Given the description of an element on the screen output the (x, y) to click on. 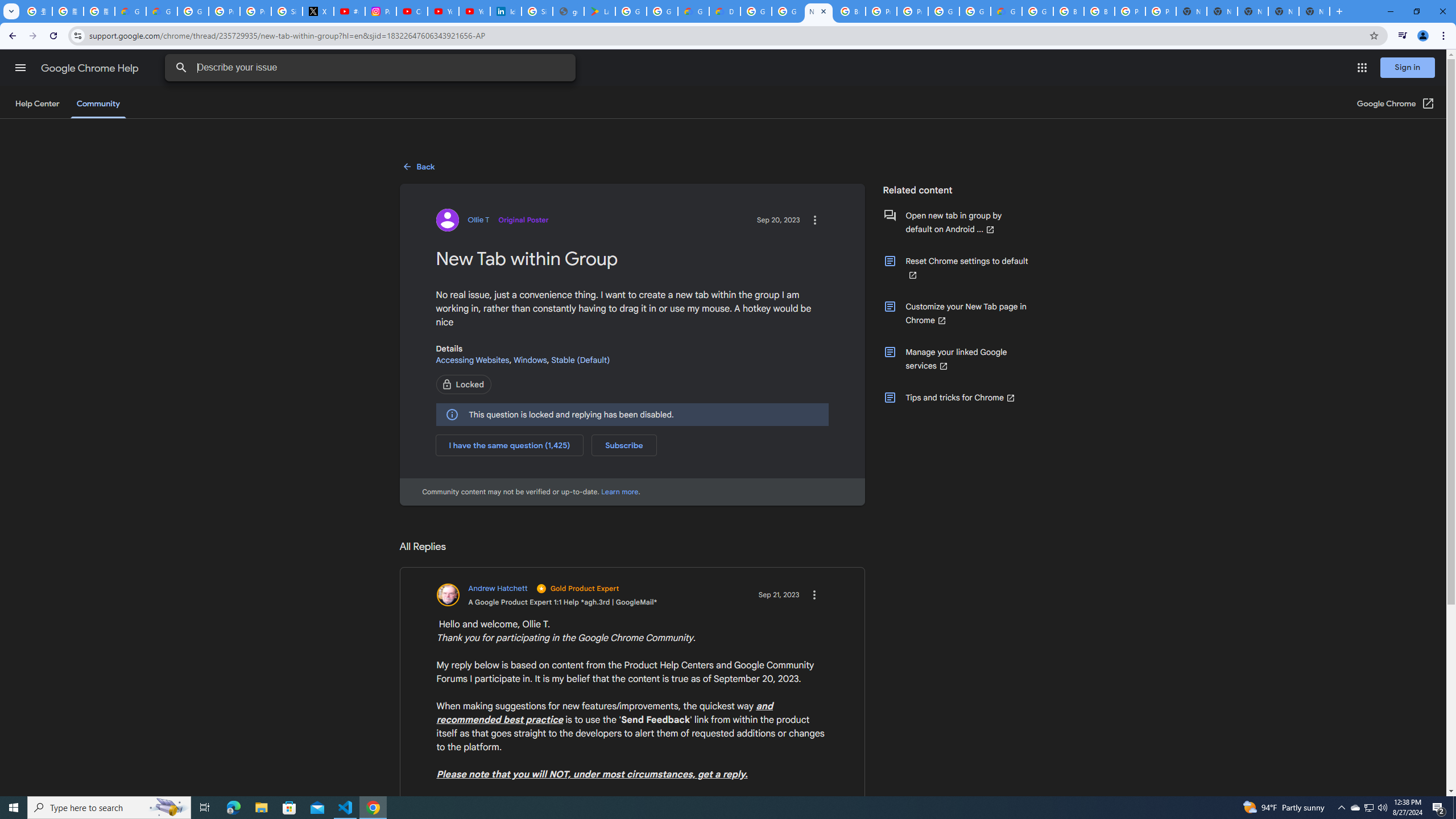
Google Cloud Privacy Notice (161, 11)
Tips and tricks for Chrome (Opens in a new window) (955, 397)
Action items for the reply (814, 594)
YouTube Culture & Trends - YouTube Top 10, 2021 (474, 11)
Google Cloud Platform (943, 11)
Windows (530, 359)
View profile for Ollie T (491, 219)
X (318, 11)
Google Chrome (Open in a new window) (1395, 103)
